Given the description of an element on the screen output the (x, y) to click on. 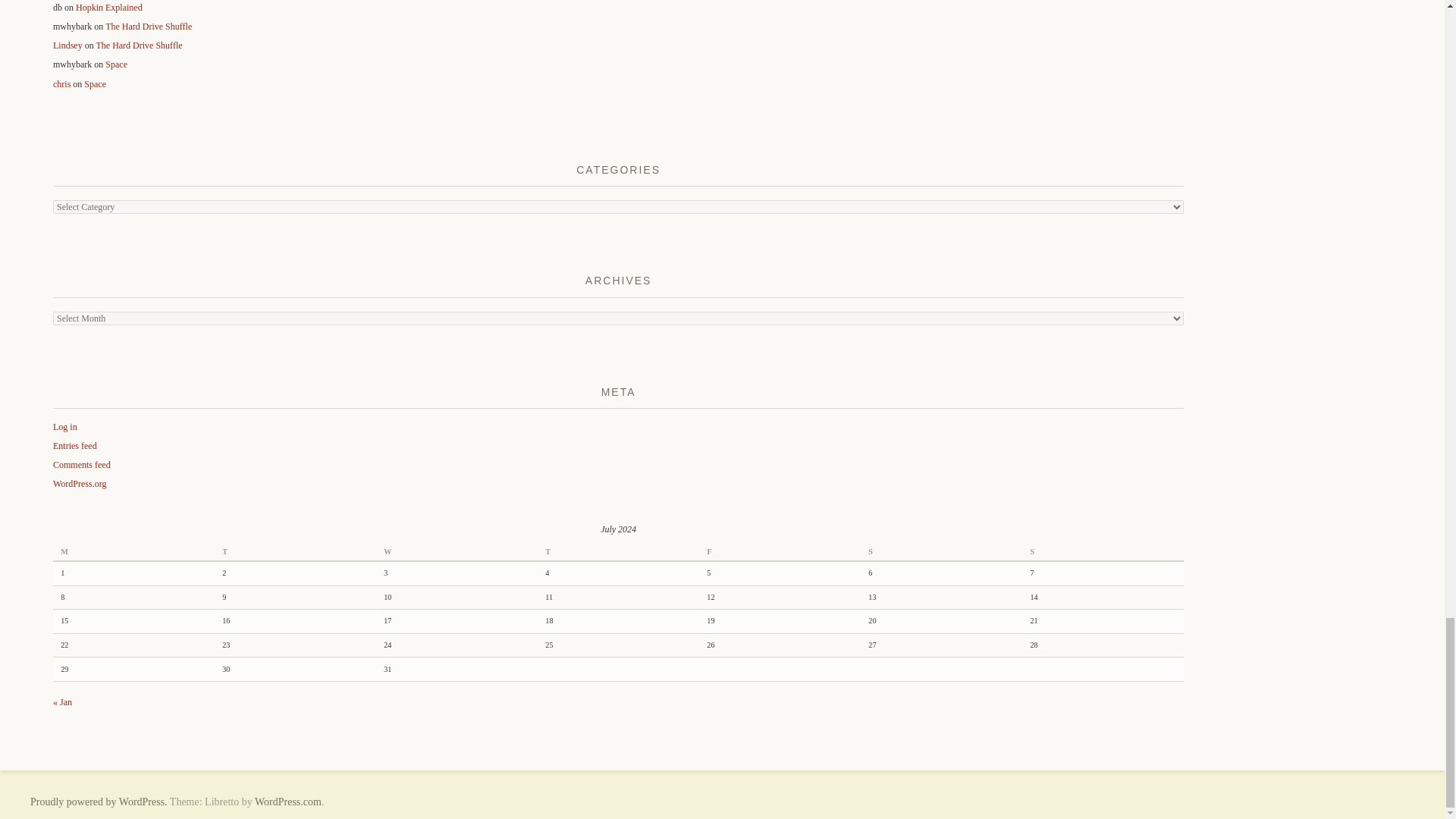
Comments feed (81, 464)
The Hard Drive Shuffle (148, 26)
The Hard Drive Shuffle (139, 45)
WordPress.org (79, 483)
Hopkin Explained (108, 7)
Thursday (617, 552)
Space (95, 83)
Entries feed (74, 445)
Log in (64, 426)
Friday (779, 552)
Proudly powered by WordPress. (98, 801)
Wednesday (456, 552)
Space (116, 63)
Lindsey (67, 45)
WordPress.com (287, 801)
